Given the description of an element on the screen output the (x, y) to click on. 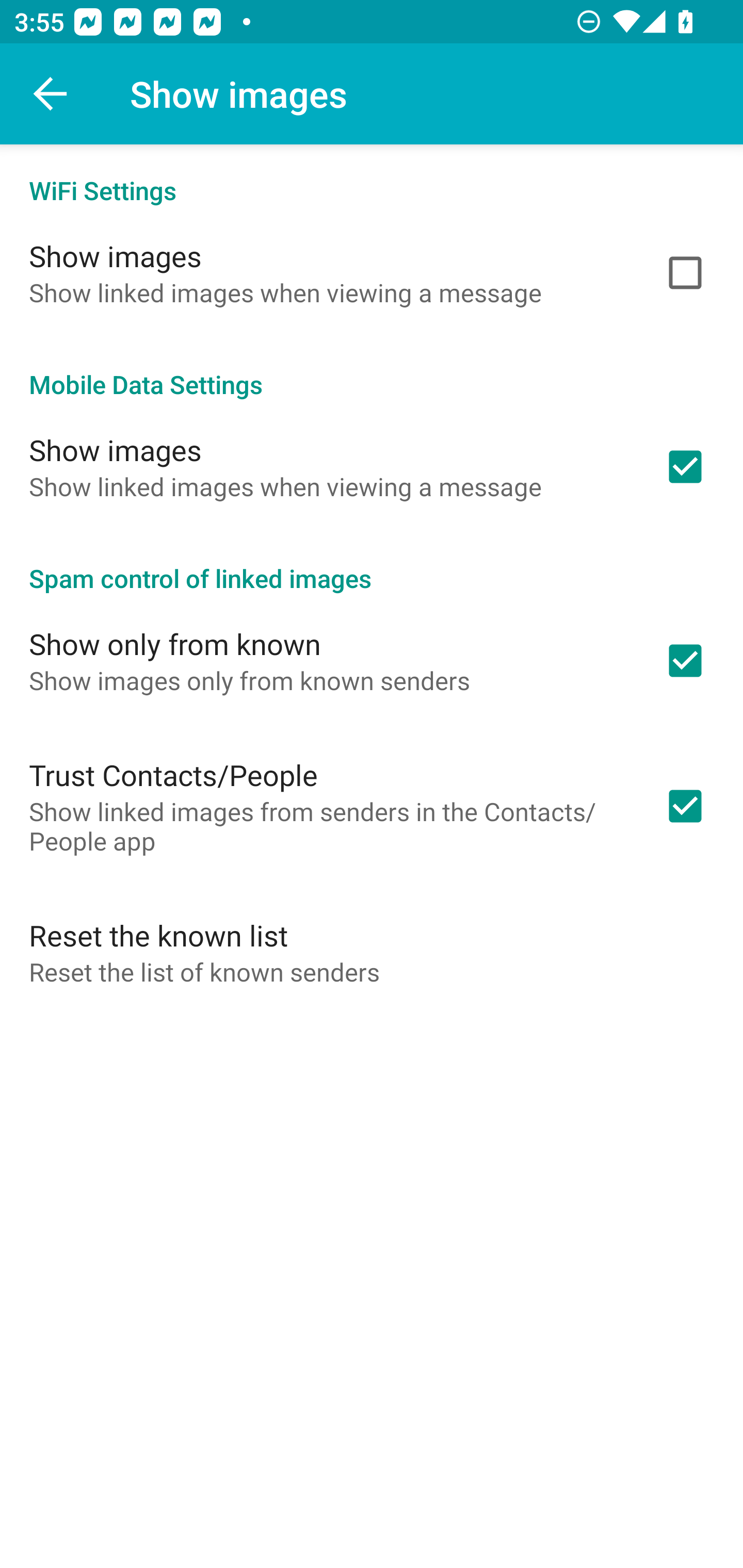
Navigate up (50, 93)
